Given the description of an element on the screen output the (x, y) to click on. 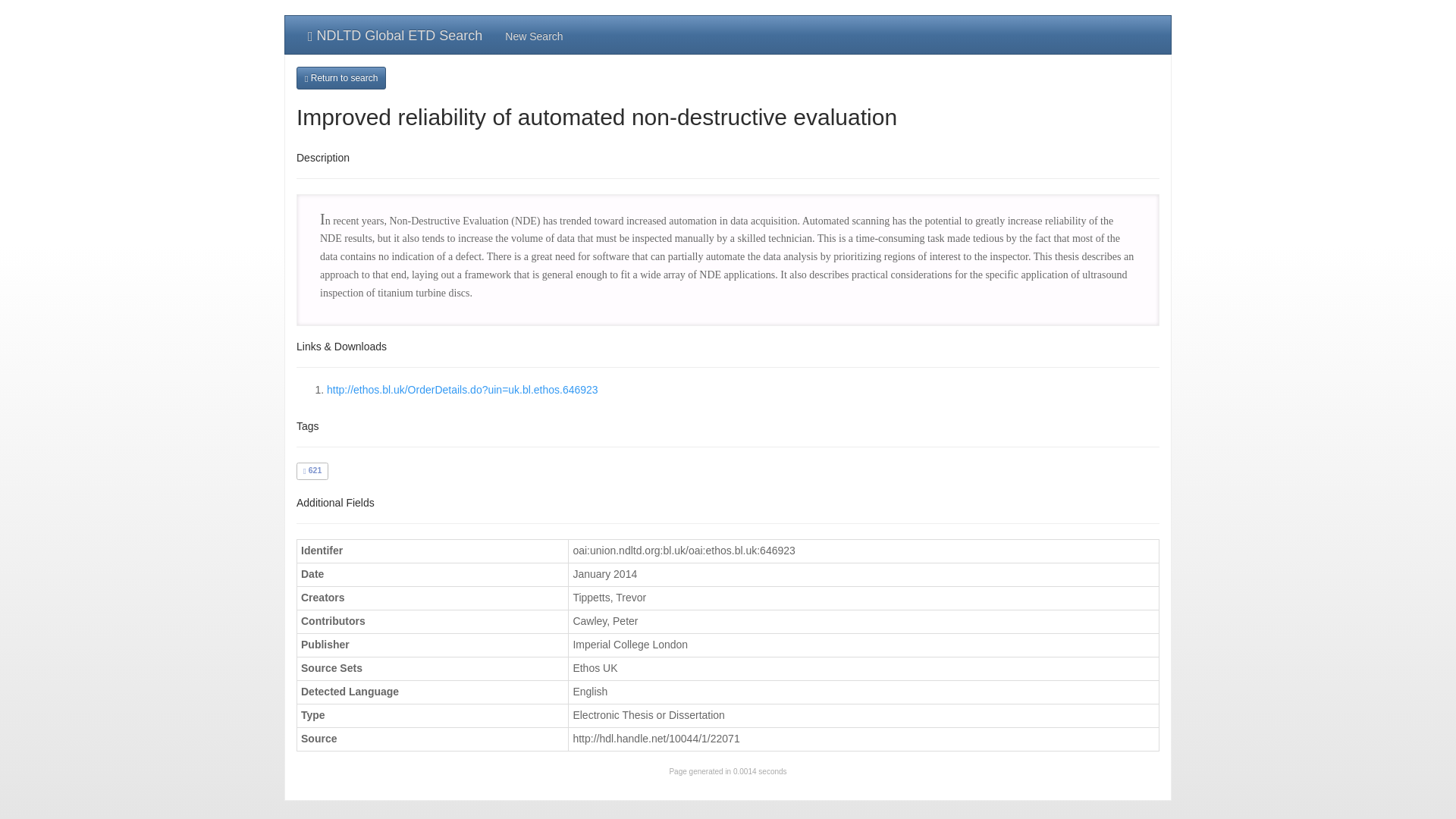
New Search (533, 34)
621 (311, 470)
NDLTD Global ETD Search (395, 34)
Return to search (341, 77)
